Given the description of an element on the screen output the (x, y) to click on. 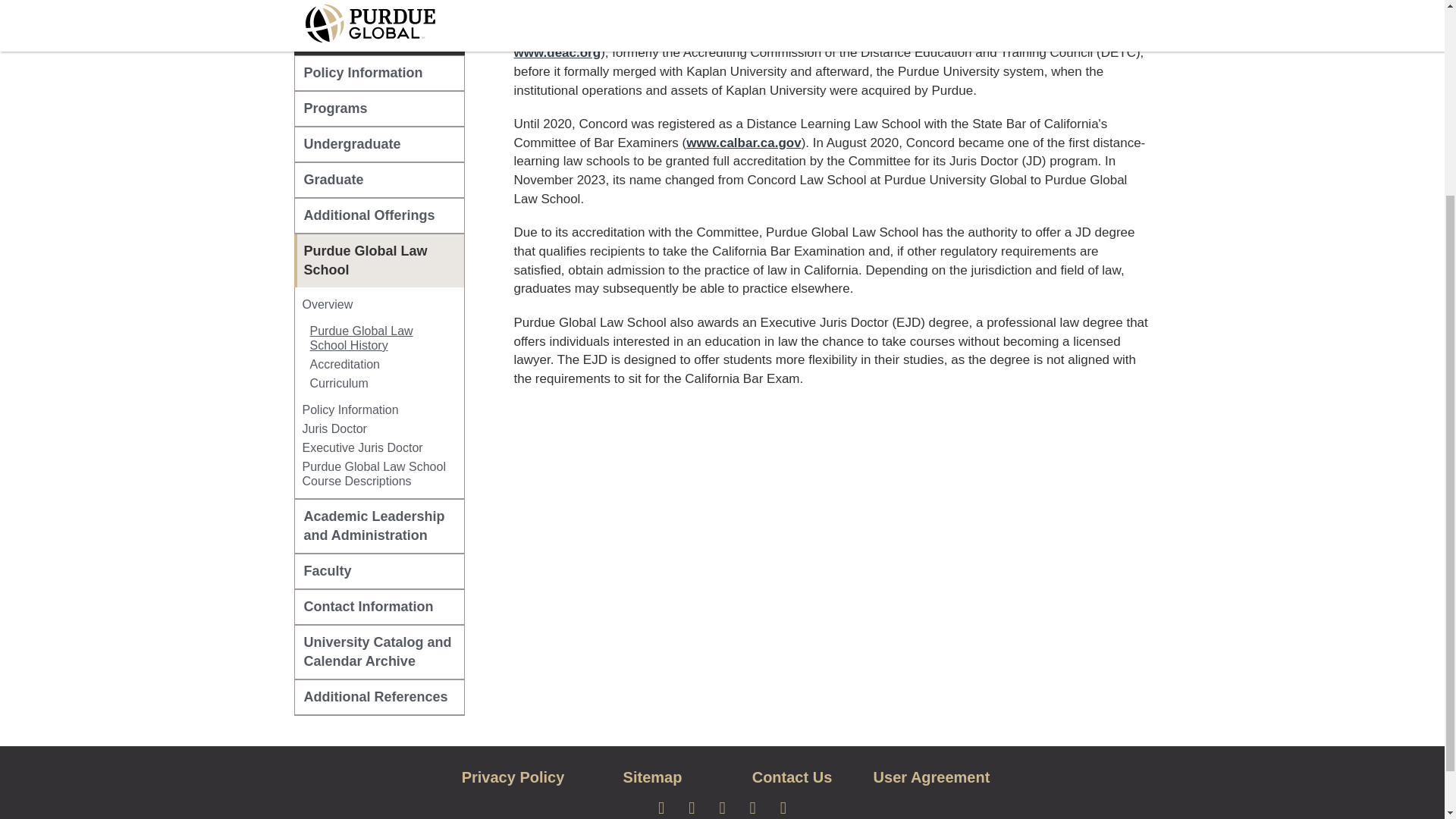
Additional Offerings (379, 215)
Overview (326, 304)
Graduate (379, 179)
Programs (379, 108)
Policy Information (379, 73)
Purdue Global Law School History (378, 337)
Undergraduate (379, 144)
Purdue Global Law School (379, 260)
